Given the description of an element on the screen output the (x, y) to click on. 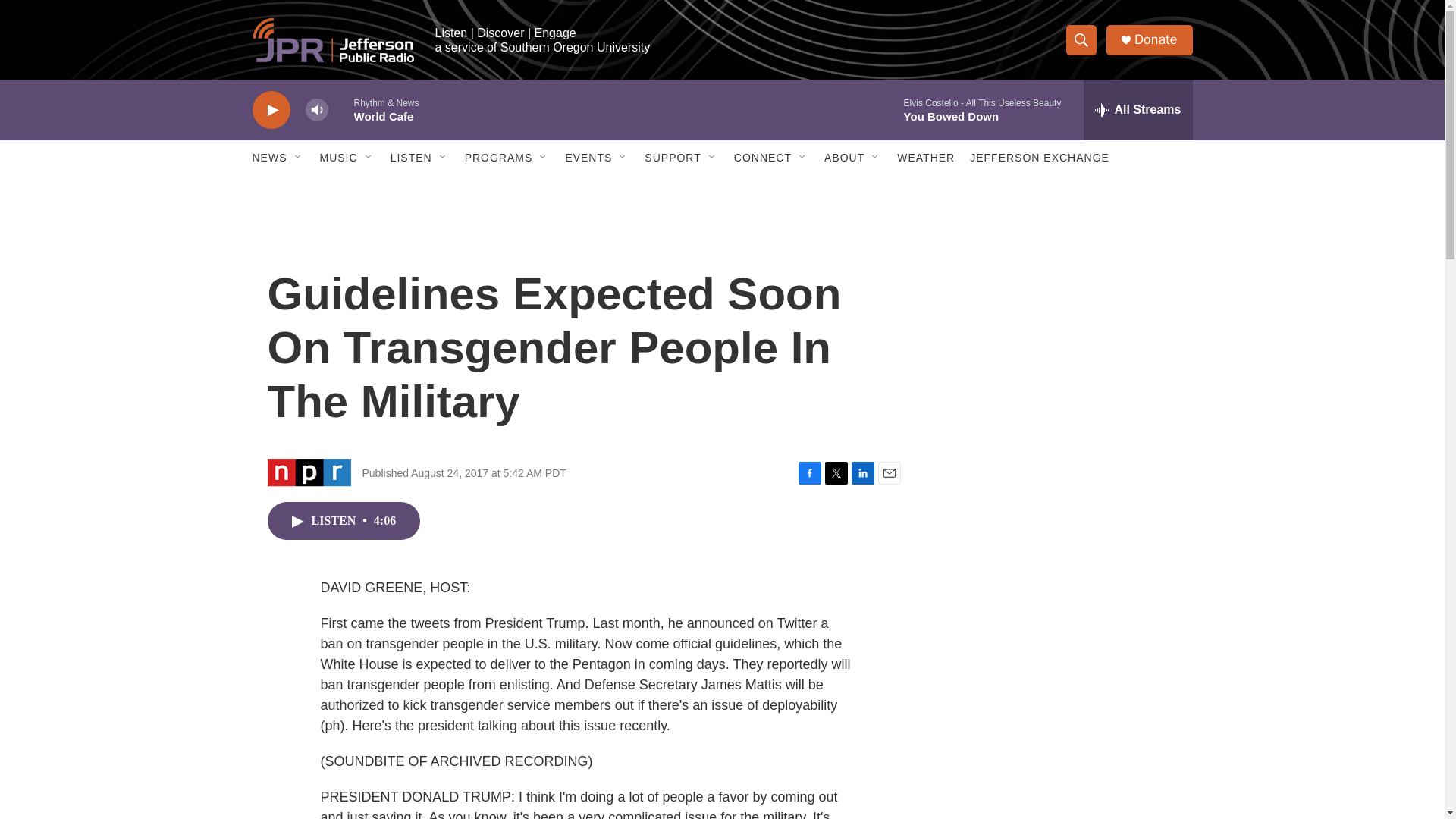
3rd party ad content (1062, 316)
3rd party ad content (1062, 740)
3rd party ad content (1062, 536)
